Given the description of an element on the screen output the (x, y) to click on. 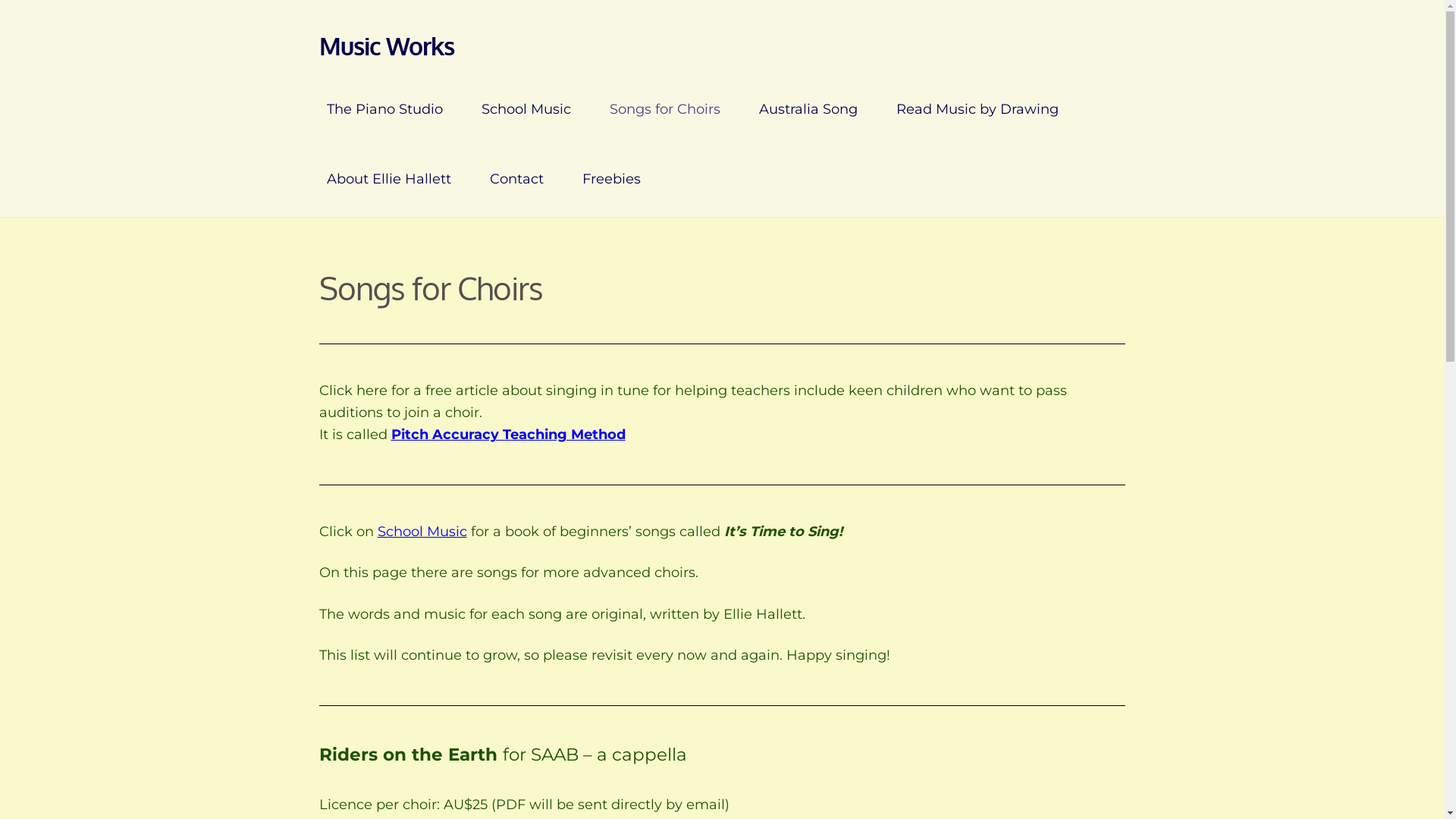
School Music Element type: text (525, 109)
Skip to navigation Element type: text (318, 31)
Music Works Element type: text (386, 45)
Freebies Element type: text (611, 178)
Pitch Accuracy Teaching Method Element type: text (508, 434)
School Music Element type: text (422, 531)
Australia Song Element type: text (808, 109)
About Ellie Hallett Element type: text (388, 178)
Contact Element type: text (516, 178)
Songs for Choirs Element type: text (665, 109)
Read Music by Drawing Element type: text (977, 109)
The Piano Studio Element type: text (384, 109)
